Given the description of an element on the screen output the (x, y) to click on. 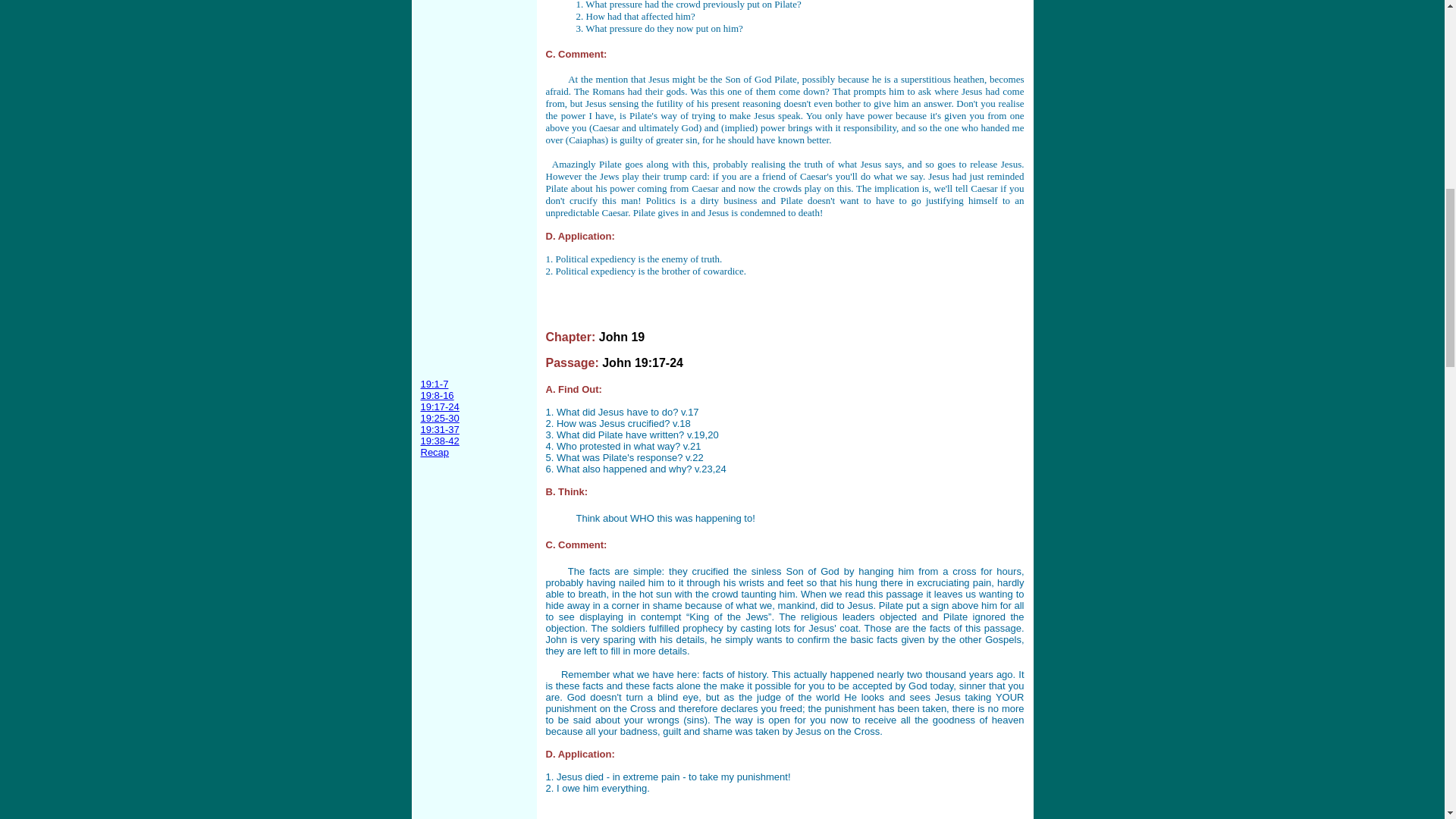
19:8-16 (436, 395)
19:38-42 (439, 440)
19:25-30 (439, 418)
19:17-24 (439, 406)
19:31-37 (439, 429)
19:1-7 (434, 383)
Recap (434, 451)
